Given the description of an element on the screen output the (x, y) to click on. 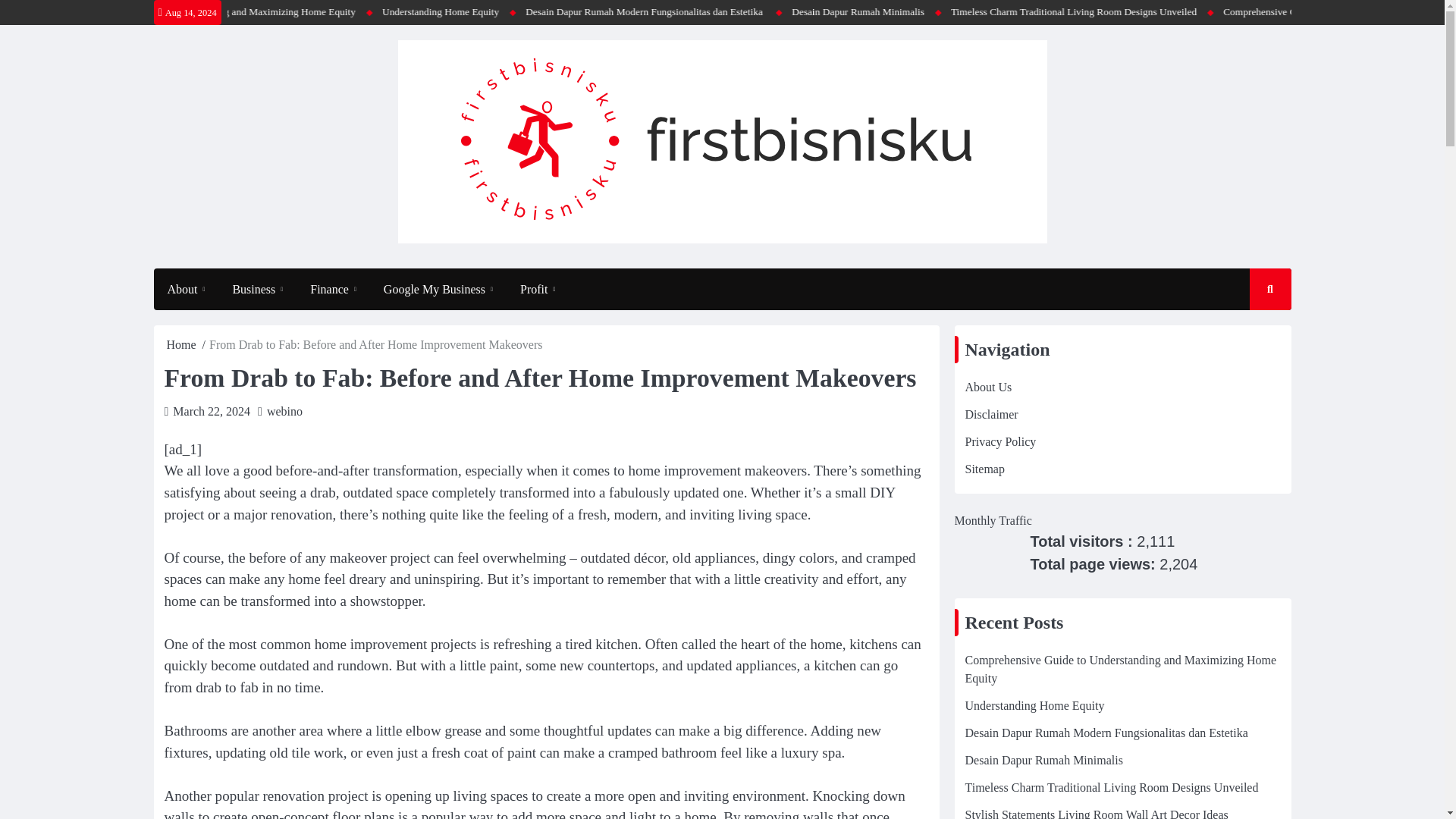
About (185, 288)
Timeless Charm Traditional Living Room Designs Unveiled (1240, 11)
Understanding Home Equity (613, 11)
Google My Business (437, 288)
Business (257, 288)
Finance (333, 288)
Desain Dapur Rumah Minimalis (1026, 11)
Desain Dapur Rumah Modern Fungsionalitas dan Estetika  (815, 11)
Profit (537, 288)
